Given the description of an element on the screen output the (x, y) to click on. 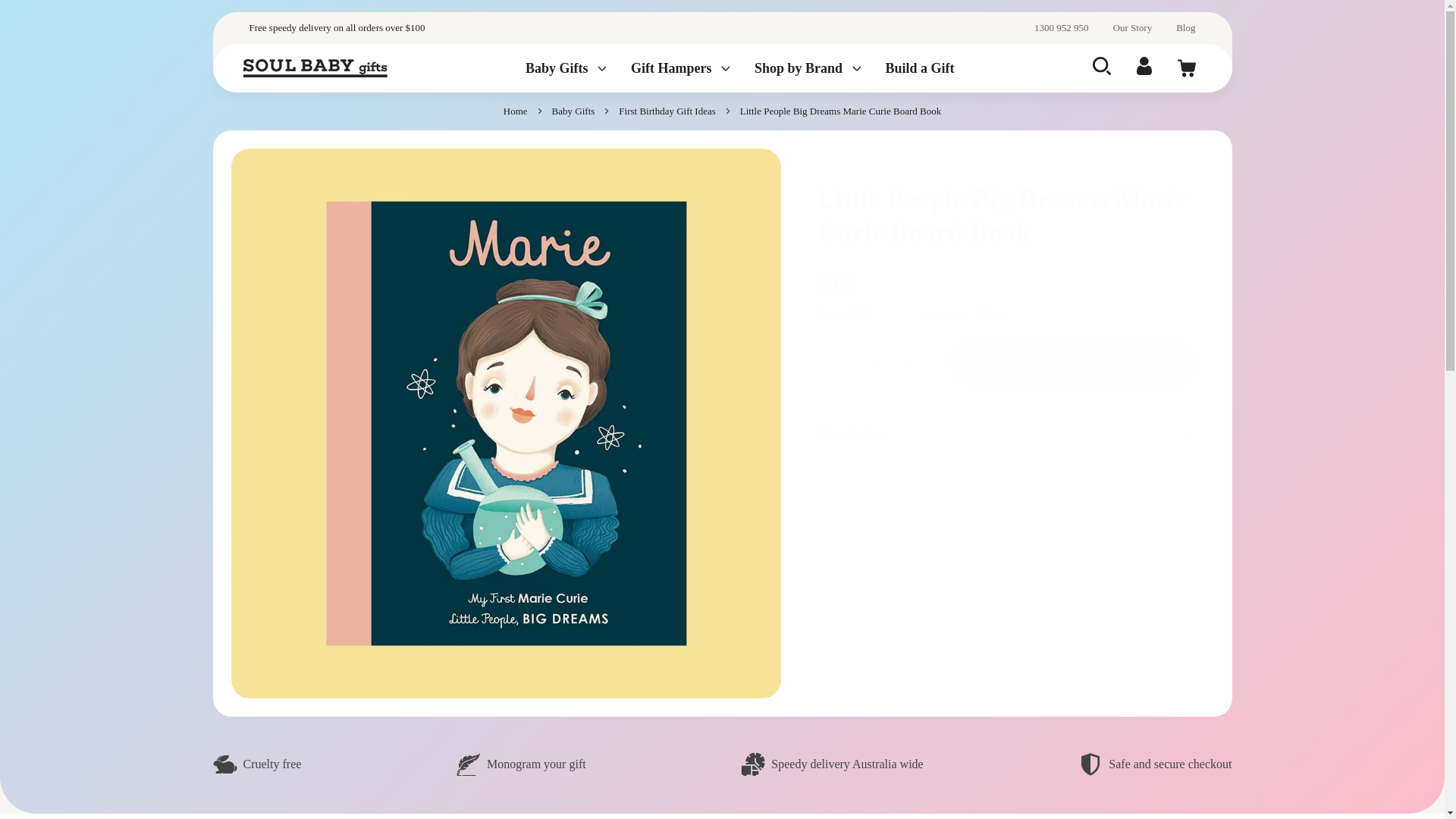
Our Story (1133, 28)
First Birthday Gift Ideas (666, 110)
Baby Gifts (573, 110)
1 (874, 363)
Skip To Content (80, 23)
Blog (1185, 28)
1300 952 950 (1061, 28)
